Given the description of an element on the screen output the (x, y) to click on. 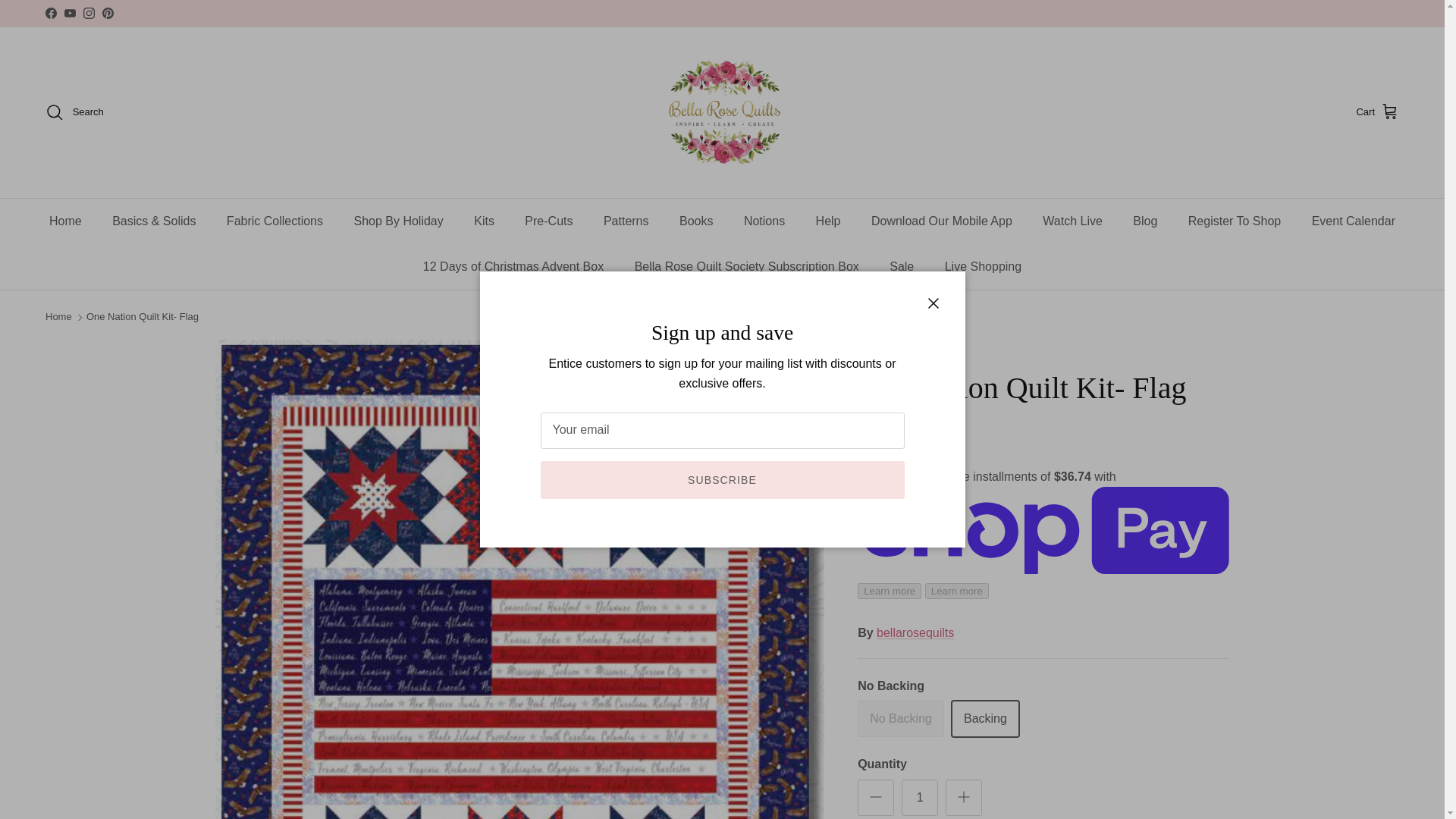
Instagram (88, 12)
Search (74, 112)
1 (919, 797)
Fabric Collections (274, 221)
Cart (1377, 112)
Pinterest (107, 12)
bellarosequilts on Instagram (88, 12)
Home (65, 221)
bellarosequilts on Facebook (50, 12)
bellarosequilts on YouTube (69, 12)
Facebook (50, 12)
bellarosequilts on Pinterest (107, 12)
YouTube (69, 12)
Sold out (900, 719)
bellarosequilts (722, 112)
